Given the description of an element on the screen output the (x, y) to click on. 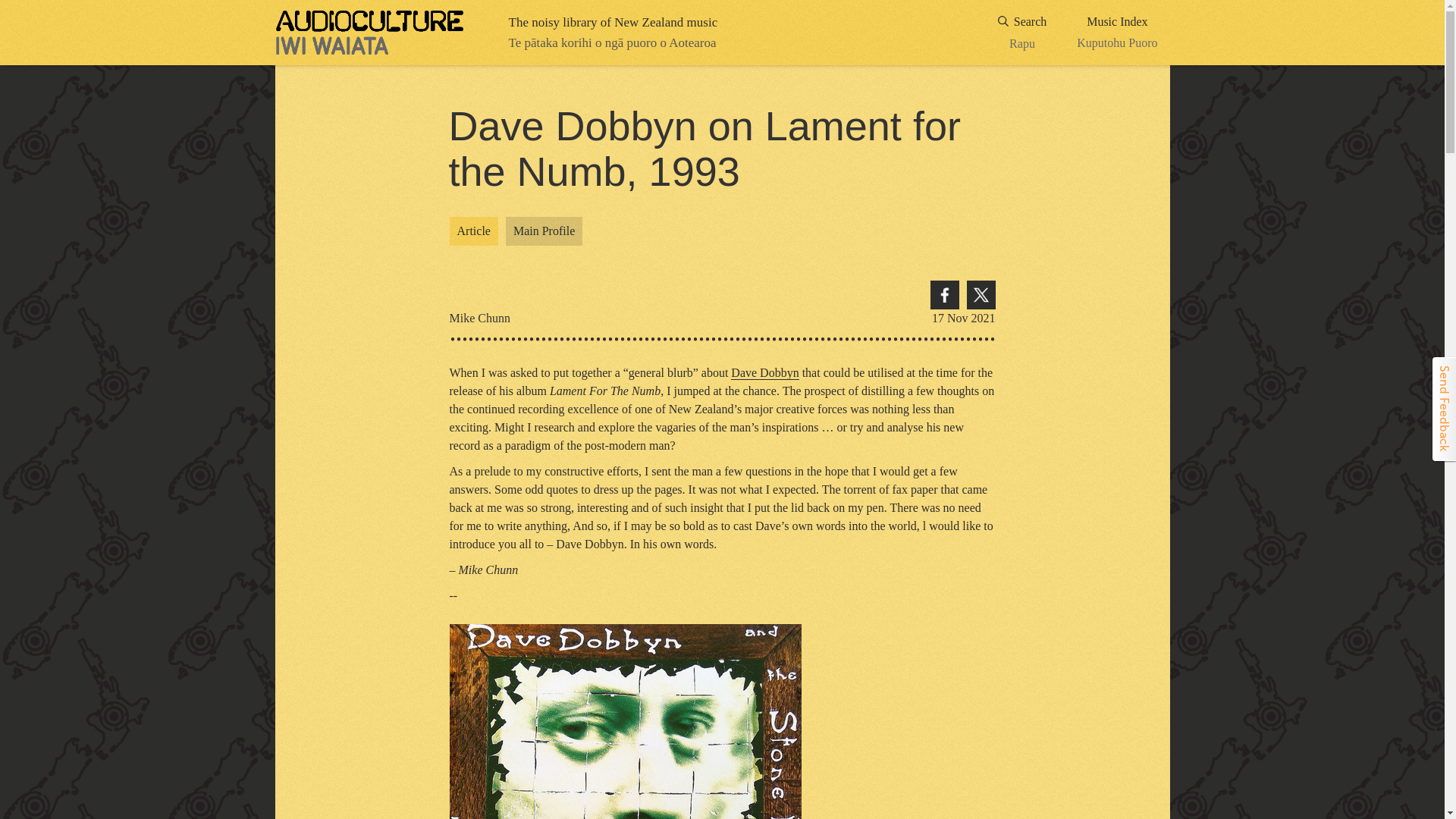
Twitter (1117, 32)
AudioCulture (1022, 32)
Facebook (980, 294)
Main Profile (369, 32)
Dave Dobbyn (944, 294)
Article (543, 231)
Dave Dobbyn (763, 373)
